Given the description of an element on the screen output the (x, y) to click on. 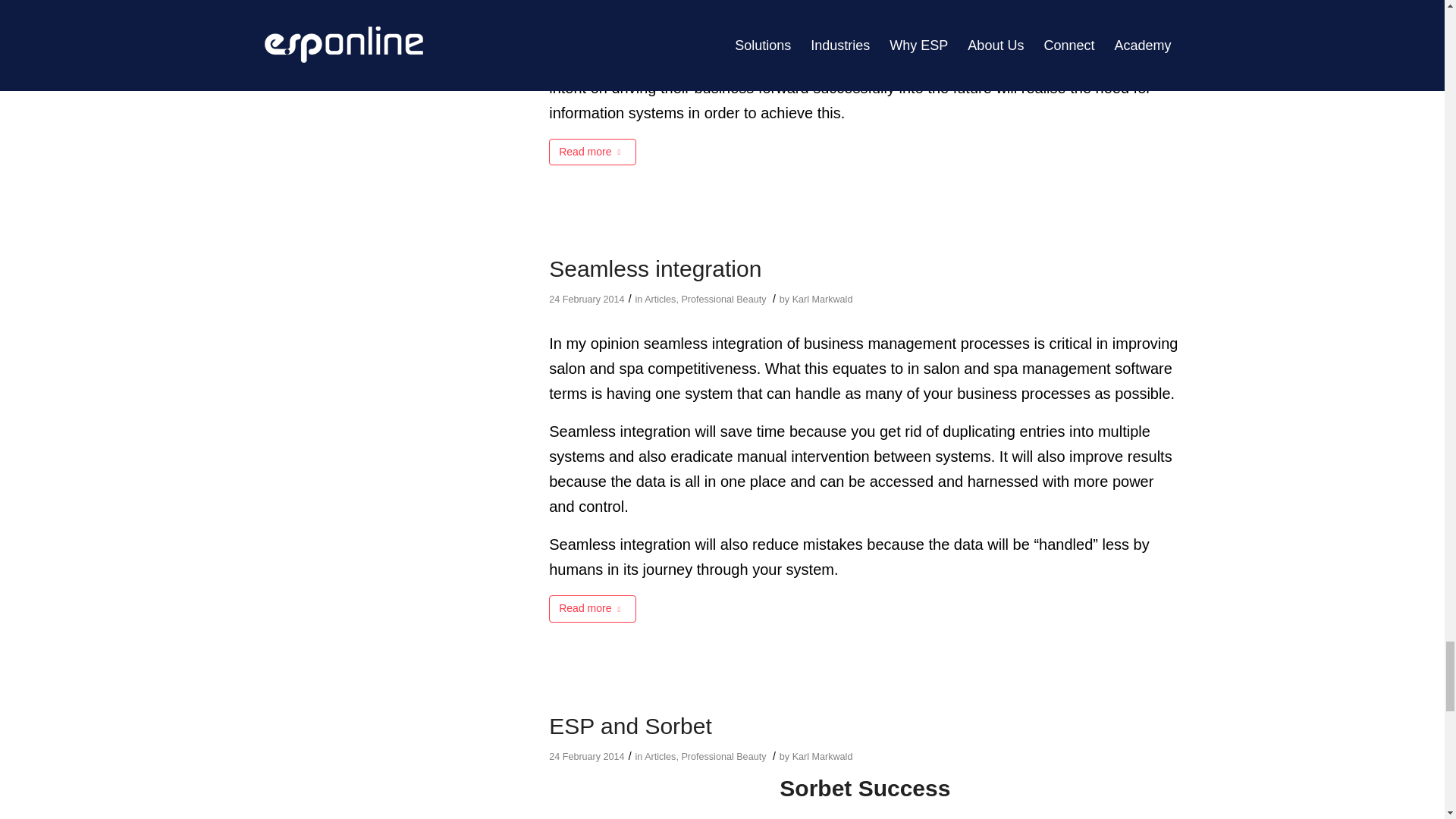
Permanent Link: Seamless integration (654, 268)
